Given the description of an element on the screen output the (x, y) to click on. 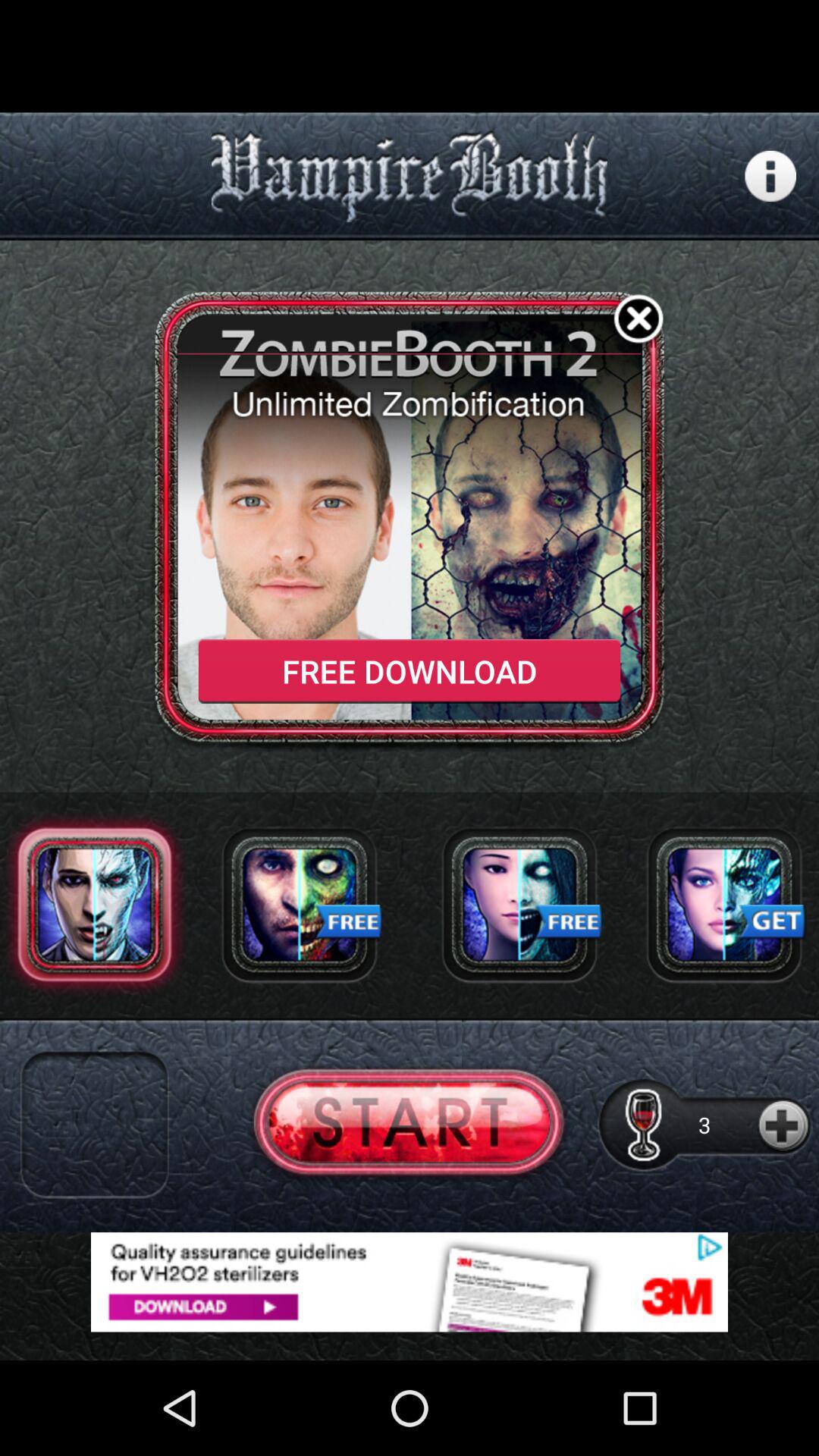
increment button (784, 1124)
